Given the description of an element on the screen output the (x, y) to click on. 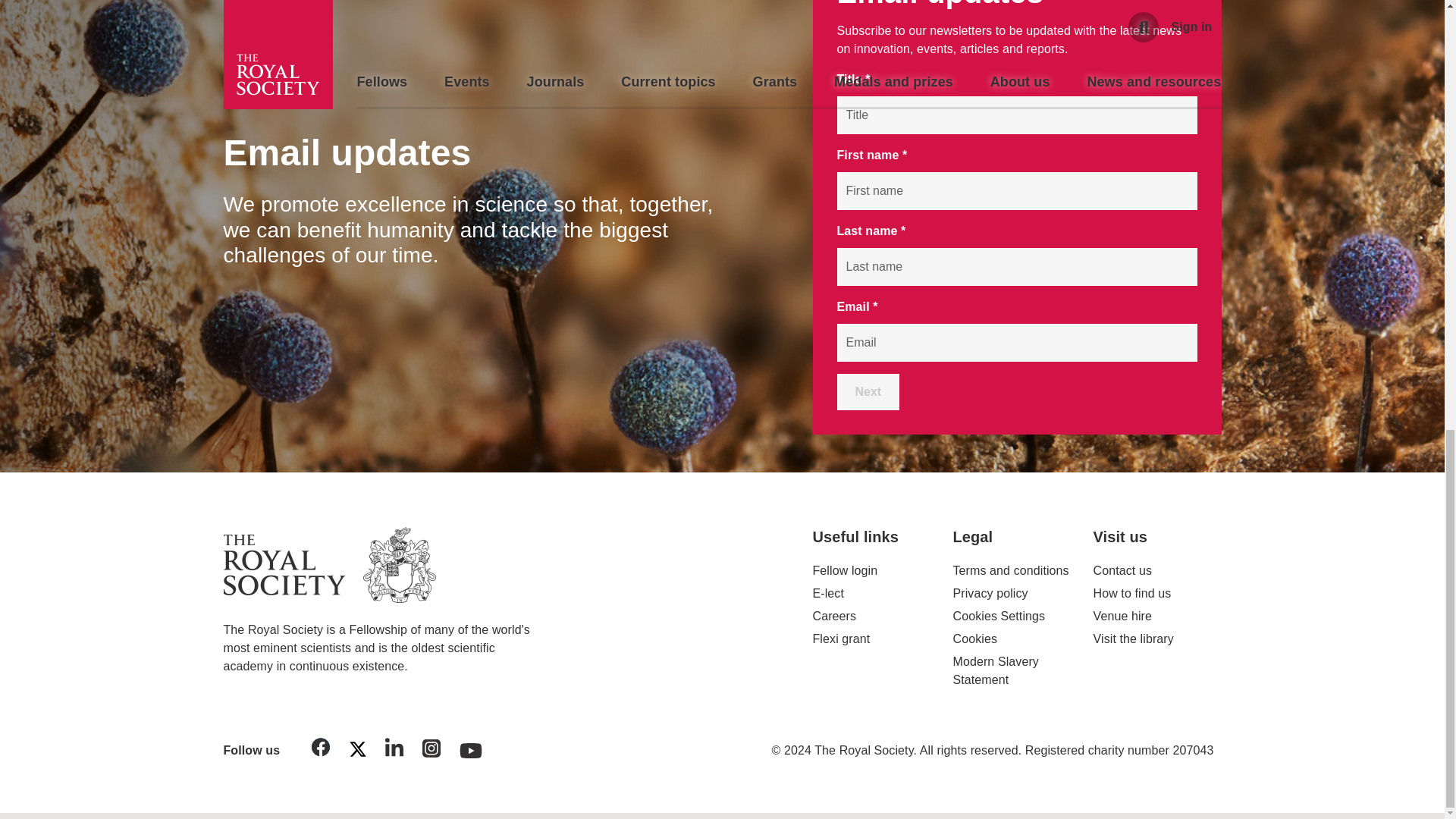
YouTube (470, 746)
Twitter (357, 752)
Instagram (431, 751)
LinkedIn (393, 750)
Facebook (320, 750)
